Given the description of an element on the screen output the (x, y) to click on. 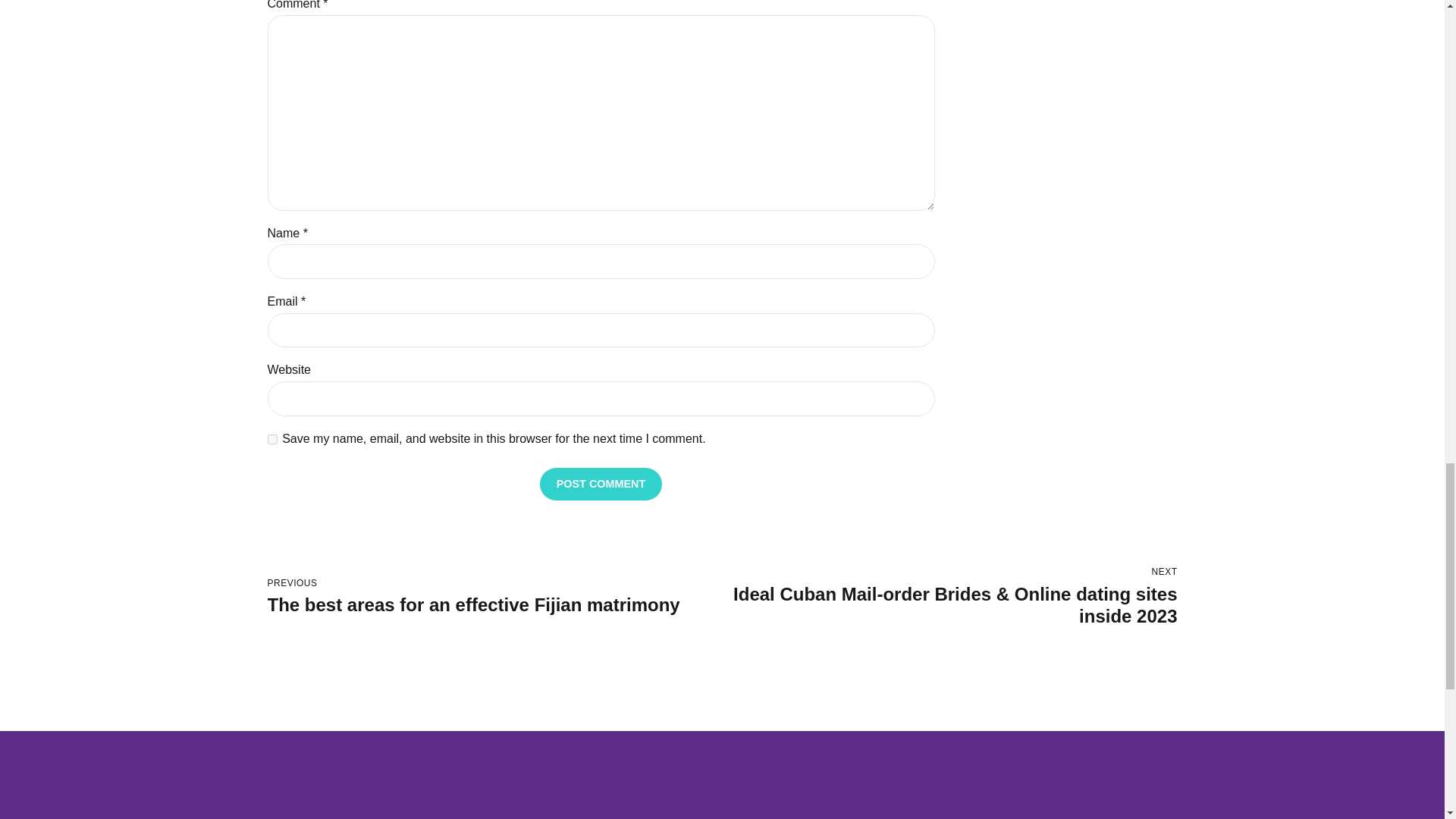
POST COMMENT (601, 483)
yes (494, 597)
